Given the description of an element on the screen output the (x, y) to click on. 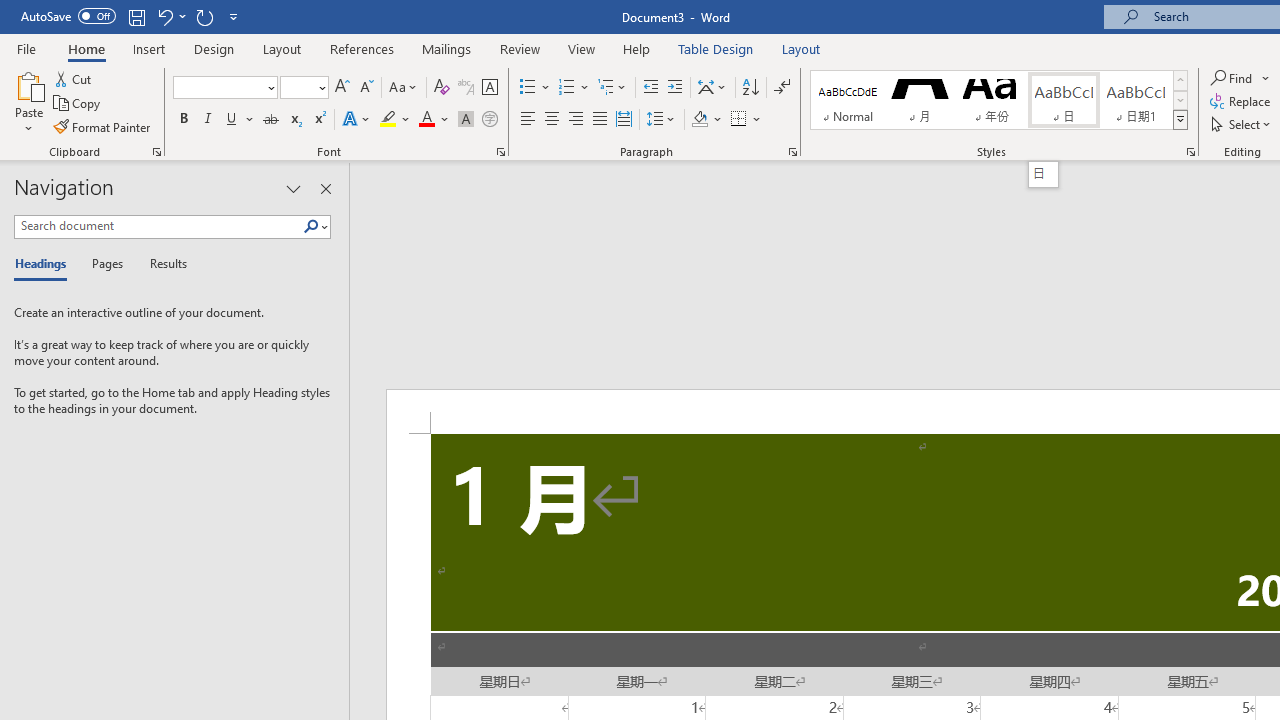
Font Size (297, 87)
Increase Indent (675, 87)
Select (1242, 124)
Class: NetUIImage (1181, 119)
Row Down (1179, 100)
Numbering (566, 87)
Font (218, 87)
Repeat Doc Close (204, 15)
File Tab (26, 48)
Italic (207, 119)
Center (552, 119)
Home (86, 48)
Bullets (535, 87)
Align Left (527, 119)
Align Right (575, 119)
